Given the description of an element on the screen output the (x, y) to click on. 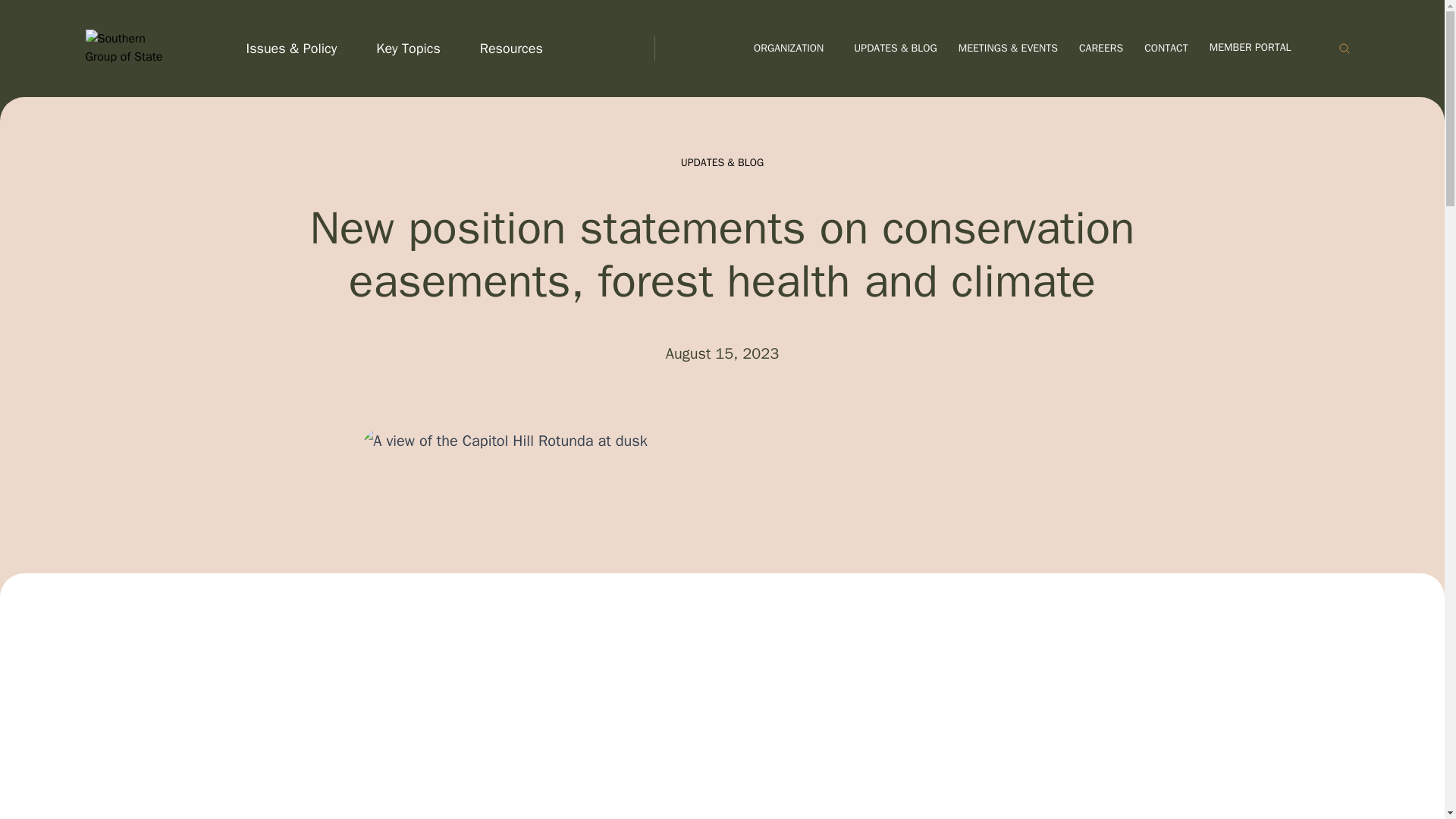
Resources (515, 48)
CAREERS (1101, 48)
CONTACT (1166, 48)
ORGANIZATION (792, 48)
Key Topics (412, 48)
MEMBER PORTAL (1260, 48)
